Given the description of an element on the screen output the (x, y) to click on. 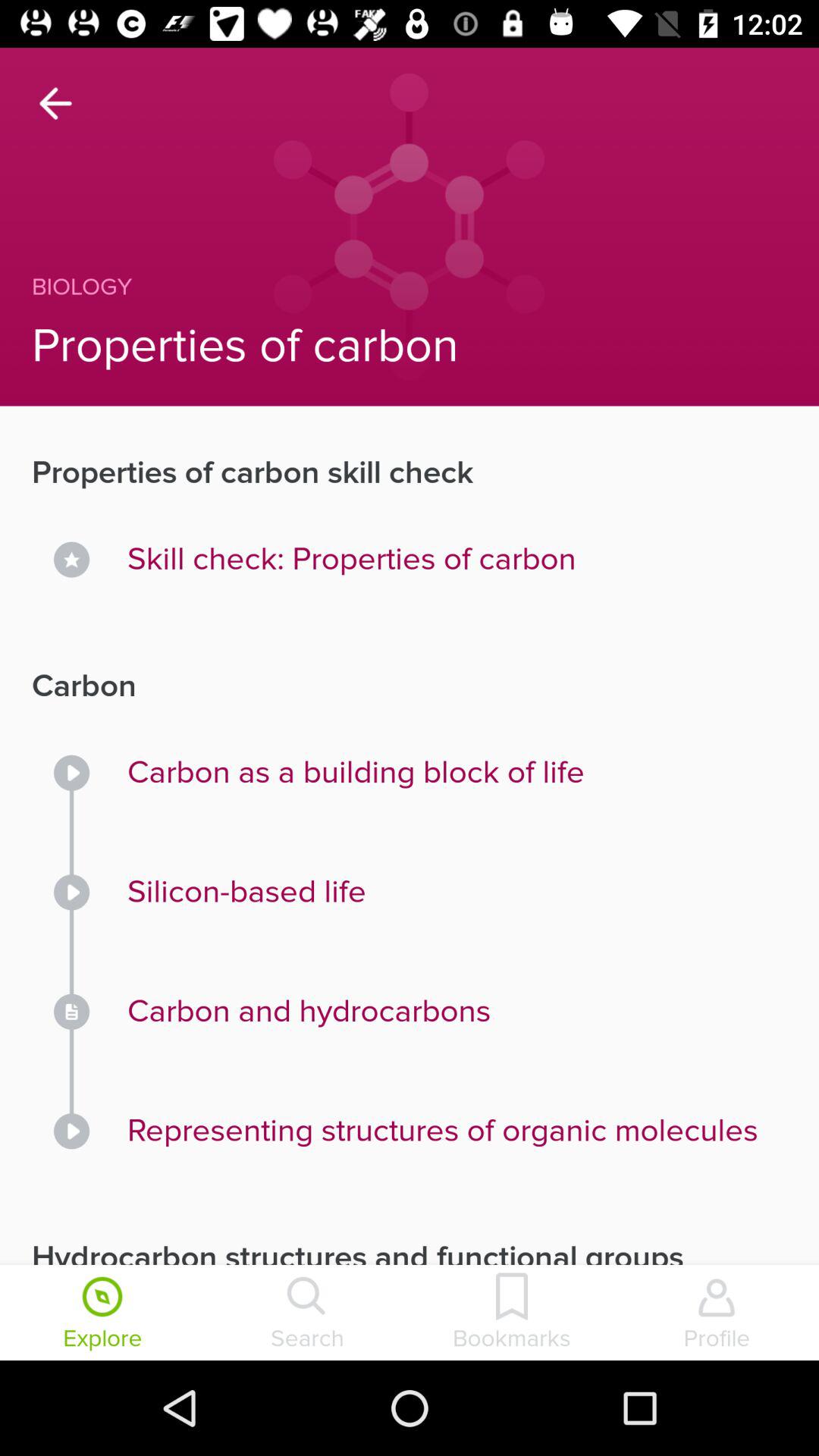
select icon below the hydrocarbon structures and icon (716, 1314)
